Given the description of an element on the screen output the (x, y) to click on. 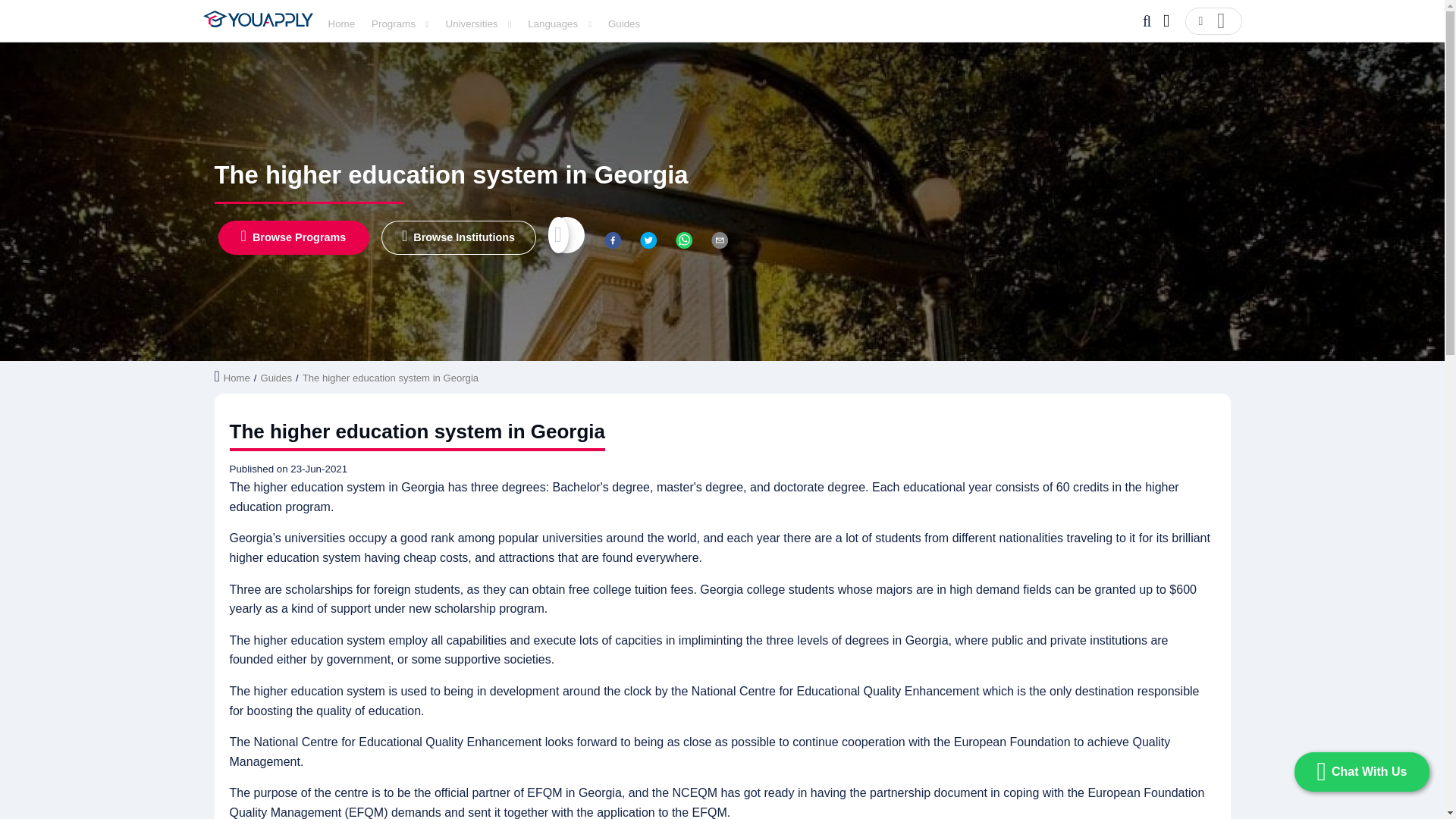
Programs (400, 23)
My Applications (1167, 20)
Guides (624, 23)
Home (341, 23)
Guides (624, 24)
Universities (478, 23)
Youapply (258, 18)
  Browse Programs (293, 236)
Languages (559, 23)
Home (341, 24)
  Browse Institutions (457, 236)
Search (1146, 20)
